Given the description of an element on the screen output the (x, y) to click on. 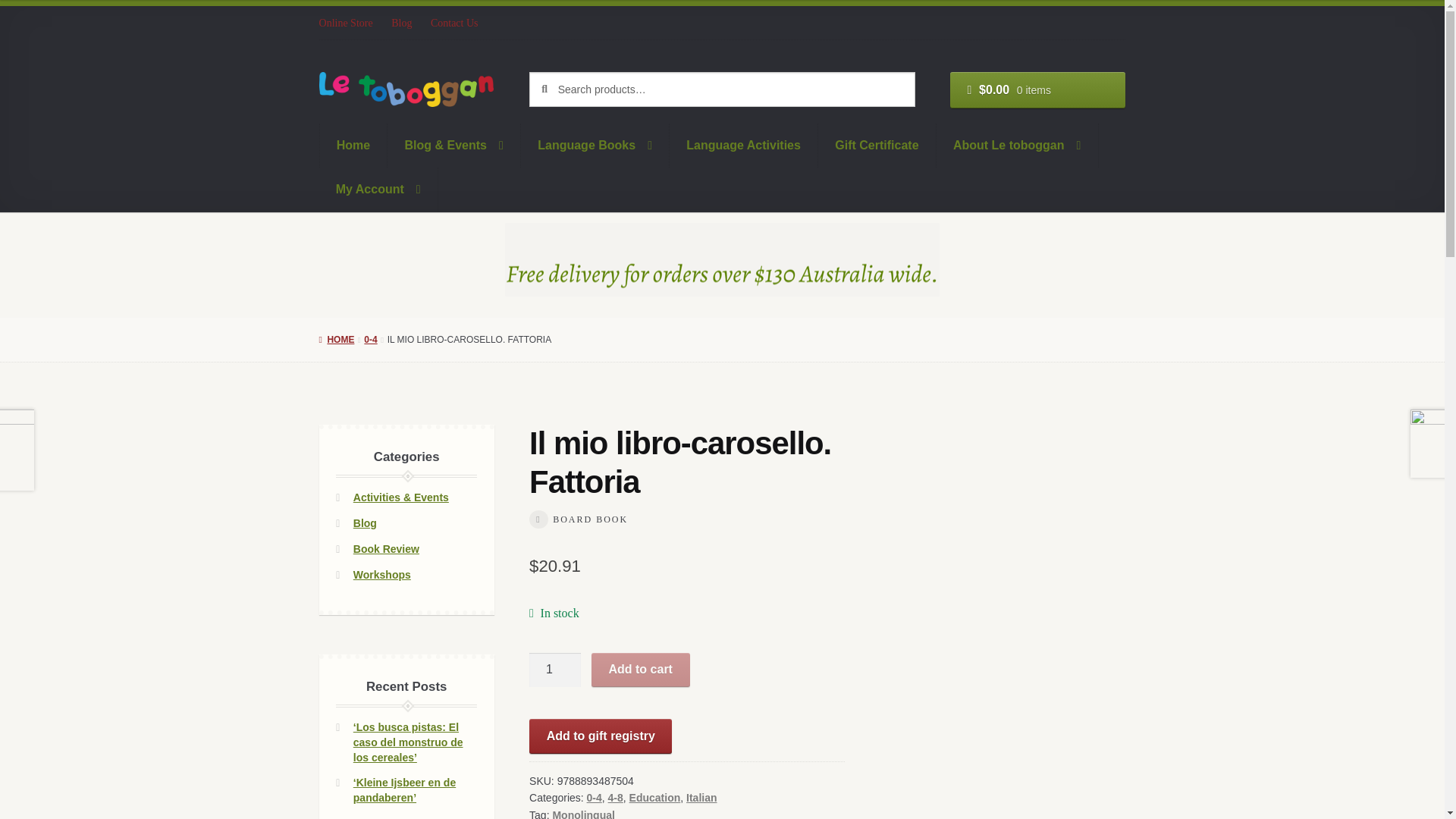
1 (554, 669)
Language Activities (743, 145)
Blog (401, 23)
Contact Us (454, 23)
Online Store (349, 23)
About Le toboggan (1017, 145)
Home (353, 145)
View your shopping cart (1037, 90)
